Given the description of an element on the screen output the (x, y) to click on. 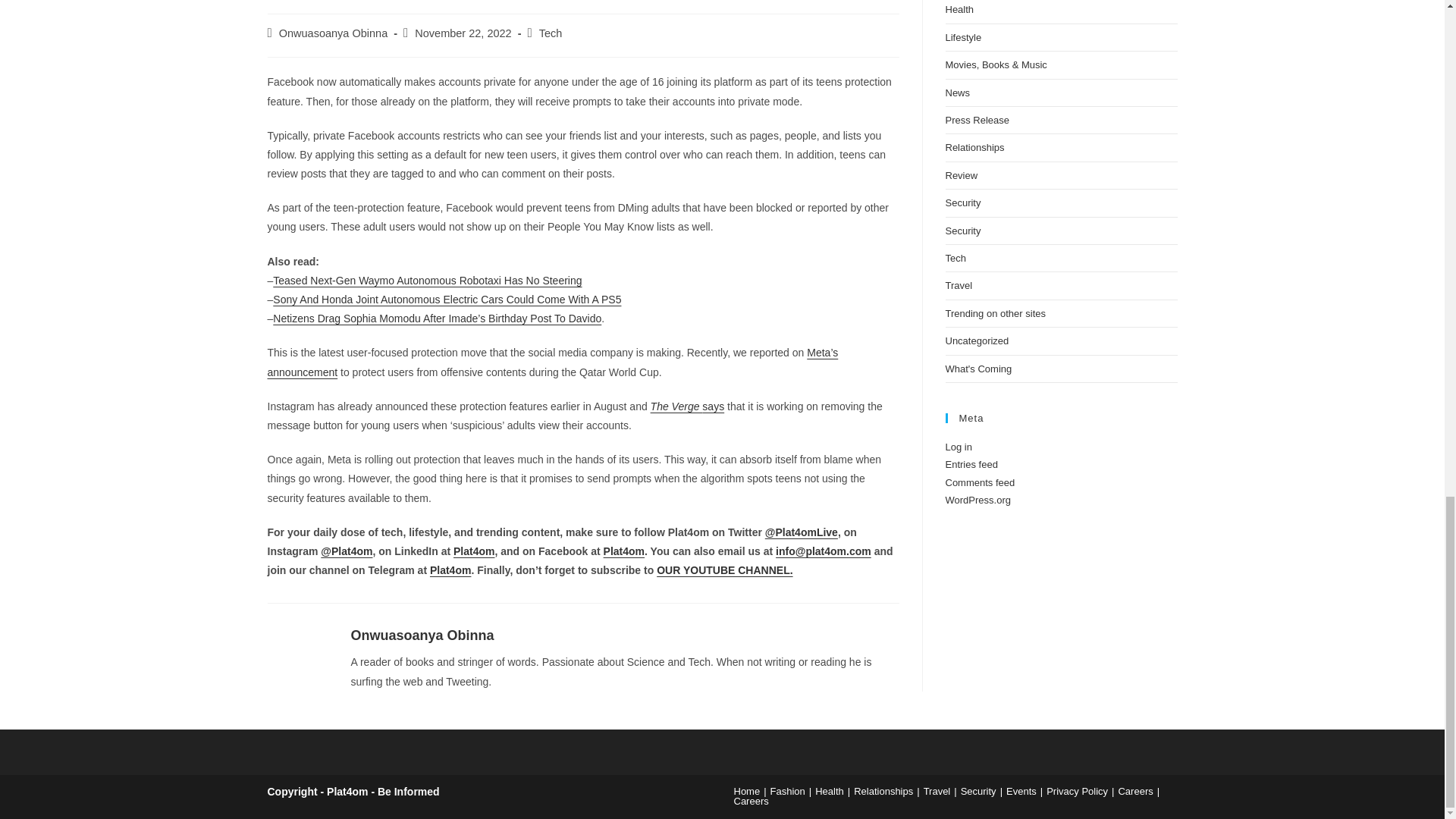
Visit author page (421, 635)
Plat4om (624, 551)
Onwuasoanya Obinna (421, 635)
The Verge says (687, 406)
Onwuasoanya Obinna (333, 33)
Tech (550, 33)
Teased Next-Gen Waymo Autonomous Robotaxi Has No Steering (426, 280)
Posts by Onwuasoanya Obinna (333, 33)
OUR YOUTUBE CHANNEL. (724, 570)
